Given the description of an element on the screen output the (x, y) to click on. 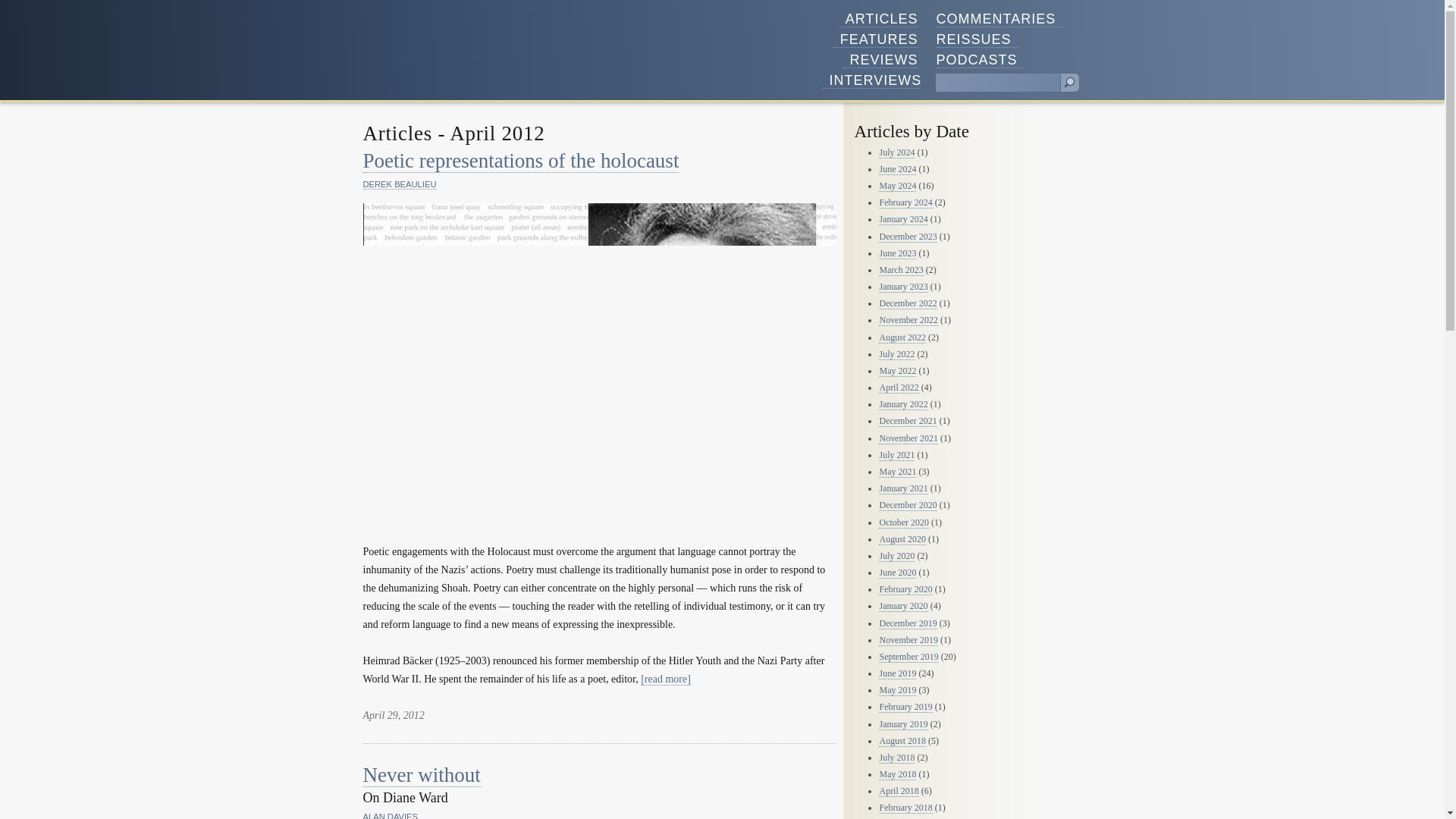
July 2020 (896, 555)
May 2024 (897, 185)
July 2022 (896, 354)
January 2024 (903, 219)
April 2022 (898, 387)
read more (665, 679)
January 2021 (903, 488)
Commentaries (999, 19)
PODCASTS (979, 59)
October 2020 (903, 522)
